Given the description of an element on the screen output the (x, y) to click on. 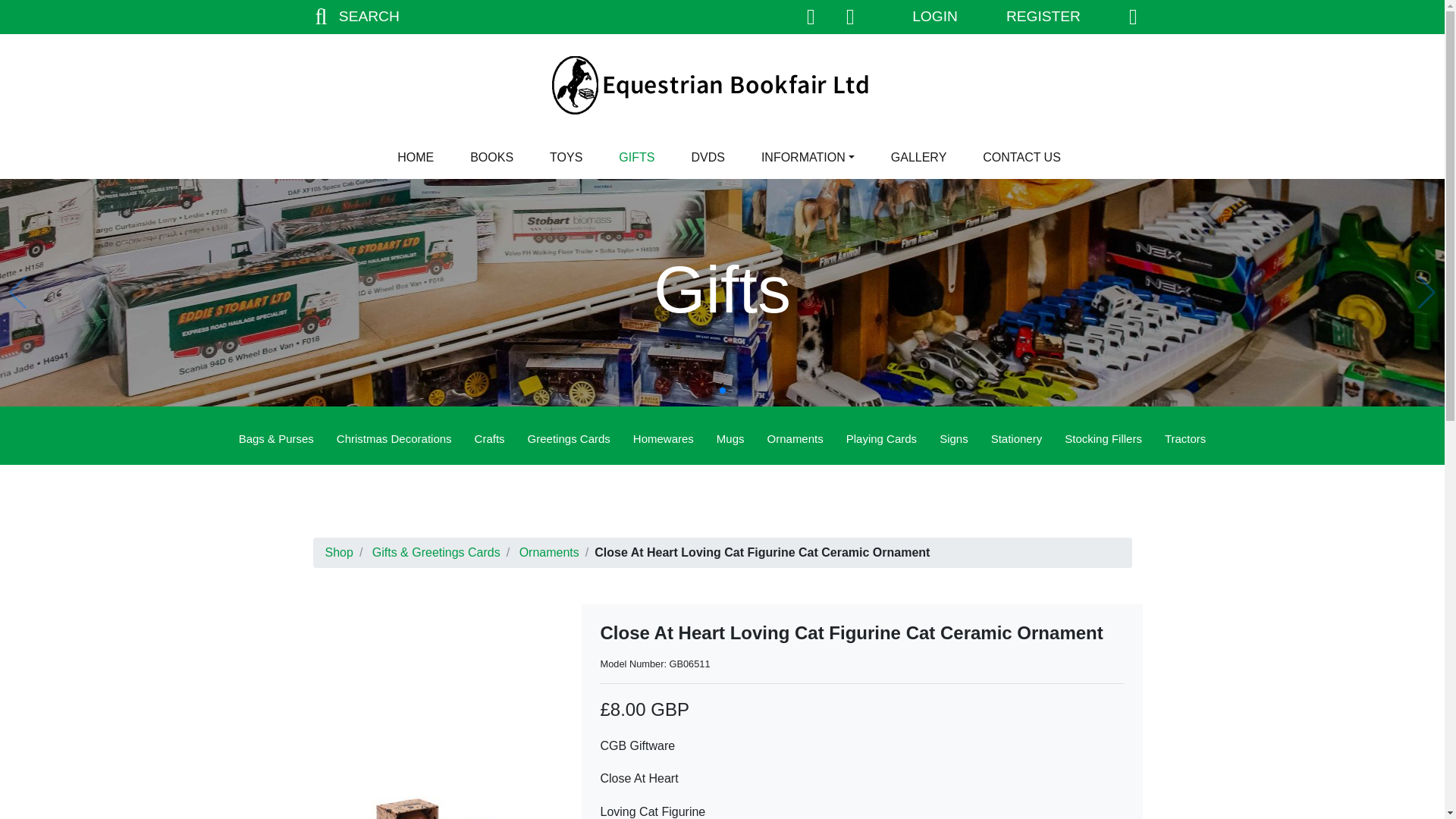
Playing Cards (881, 440)
Tractors (1185, 440)
Homewares (662, 440)
GIFTS (636, 157)
CONTACT US (1021, 157)
 SEARCH (353, 17)
TOYS (565, 157)
Equestrian Bookfair (721, 84)
Mugs (729, 440)
Stationery (1016, 440)
DVDS (707, 157)
Greetings Cards (568, 440)
LOGIN (934, 17)
Ornaments (794, 440)
BOOKS (491, 157)
